Given the description of an element on the screen output the (x, y) to click on. 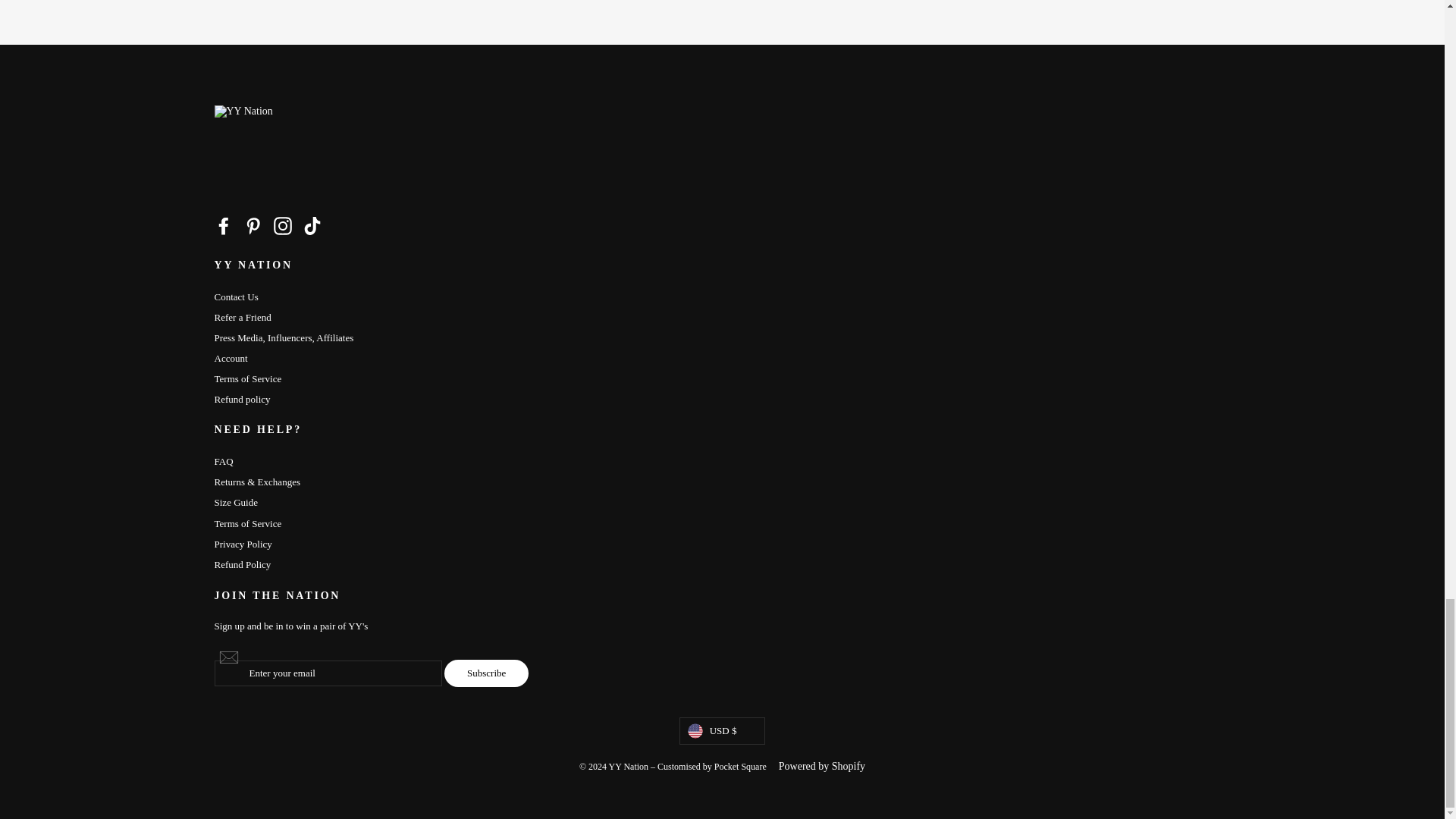
YY Nation on Instagram (282, 226)
YY Nation on Facebook (222, 226)
YY Nation on TikTok (311, 226)
YY Nation on Pinterest (253, 226)
